Given the description of an element on the screen output the (x, y) to click on. 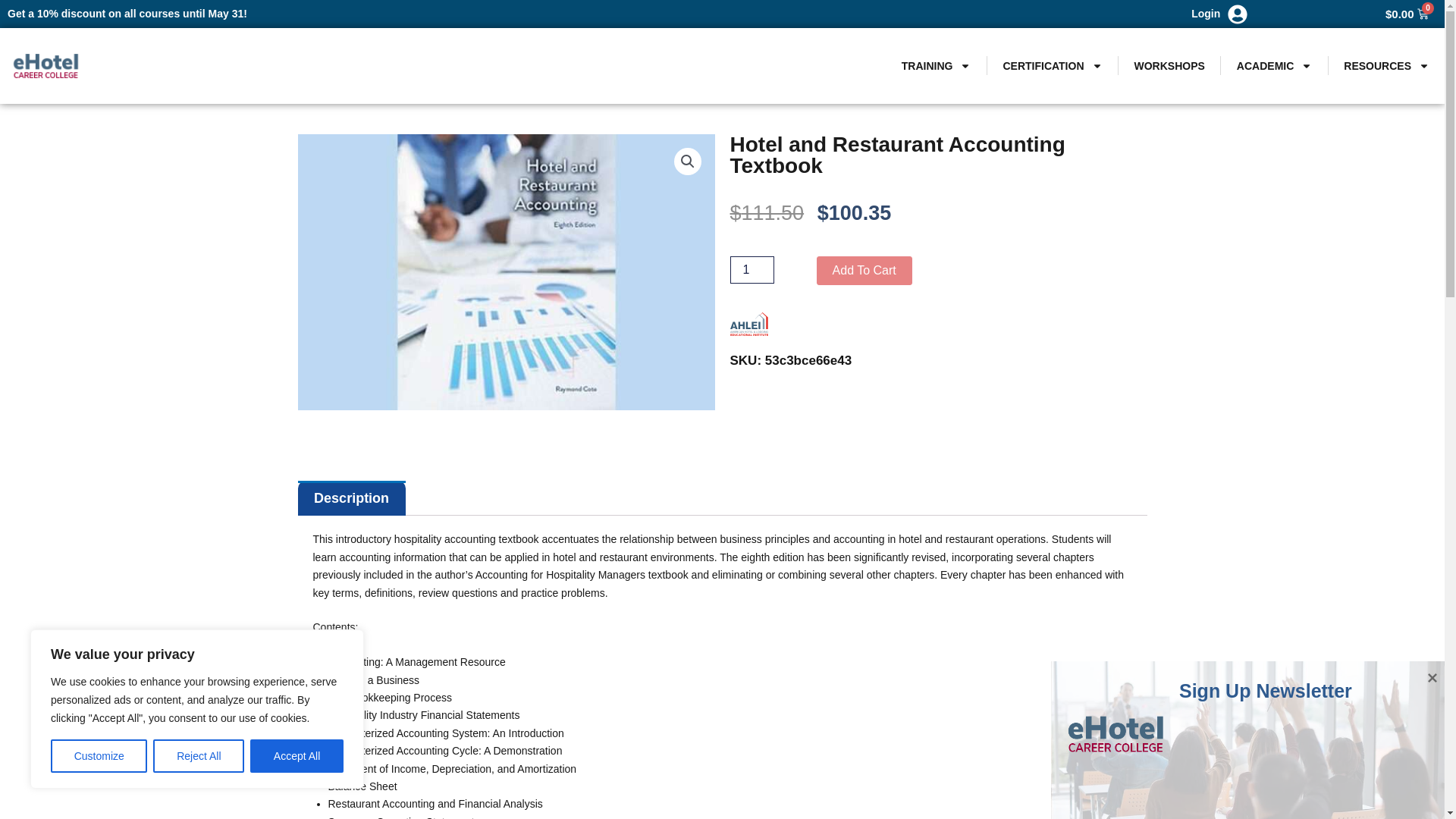
Login (1205, 13)
Customize (98, 756)
Reject All (198, 756)
ACADEMIC (1273, 65)
1 (751, 269)
CERTIFICATION (1052, 65)
TRAINING (936, 65)
WORKSHOPS (1169, 65)
Accept All (296, 756)
